Given the description of an element on the screen output the (x, y) to click on. 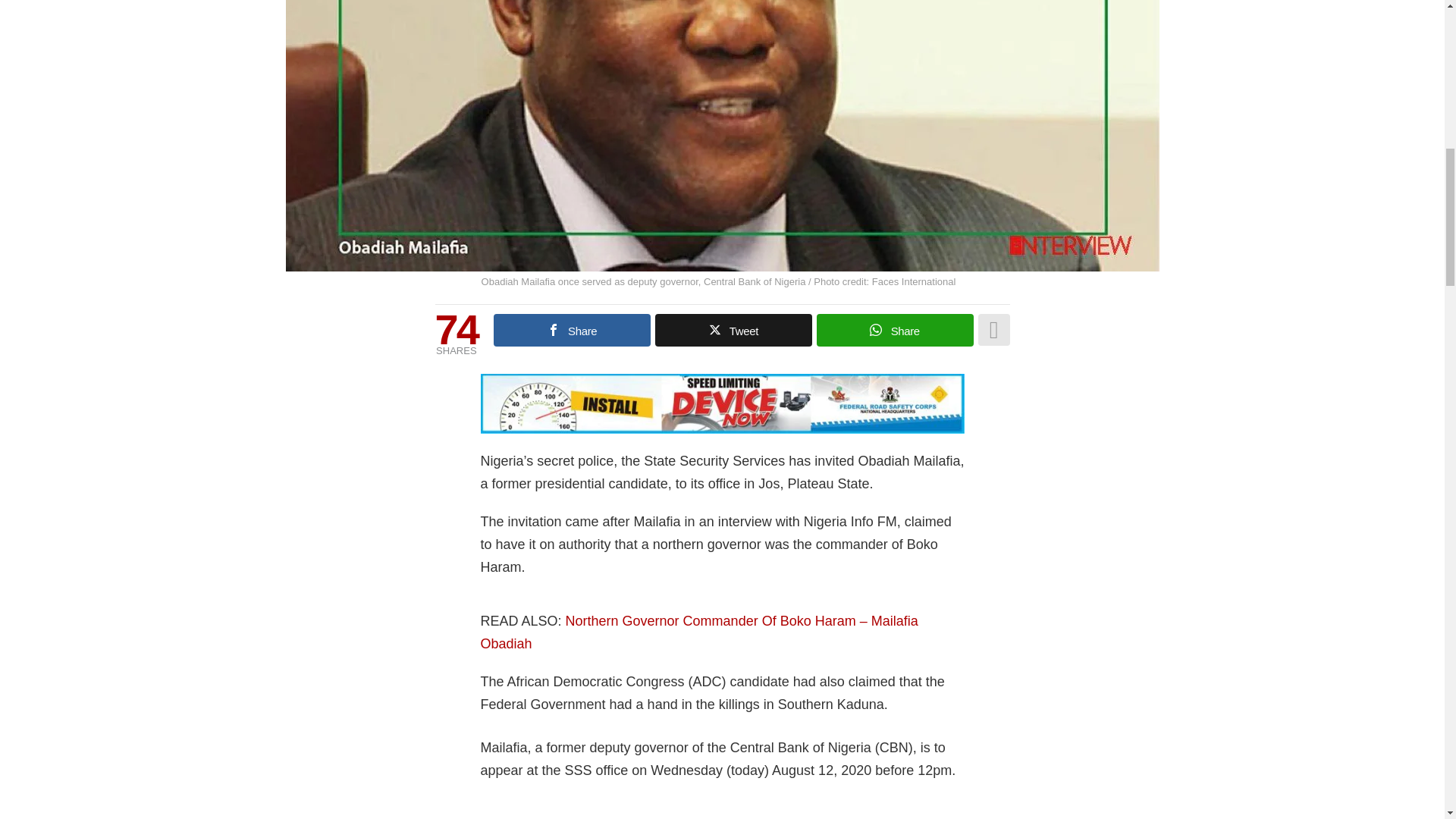
Tweet (733, 329)
Share (895, 329)
Share (571, 329)
